Given the description of an element on the screen output the (x, y) to click on. 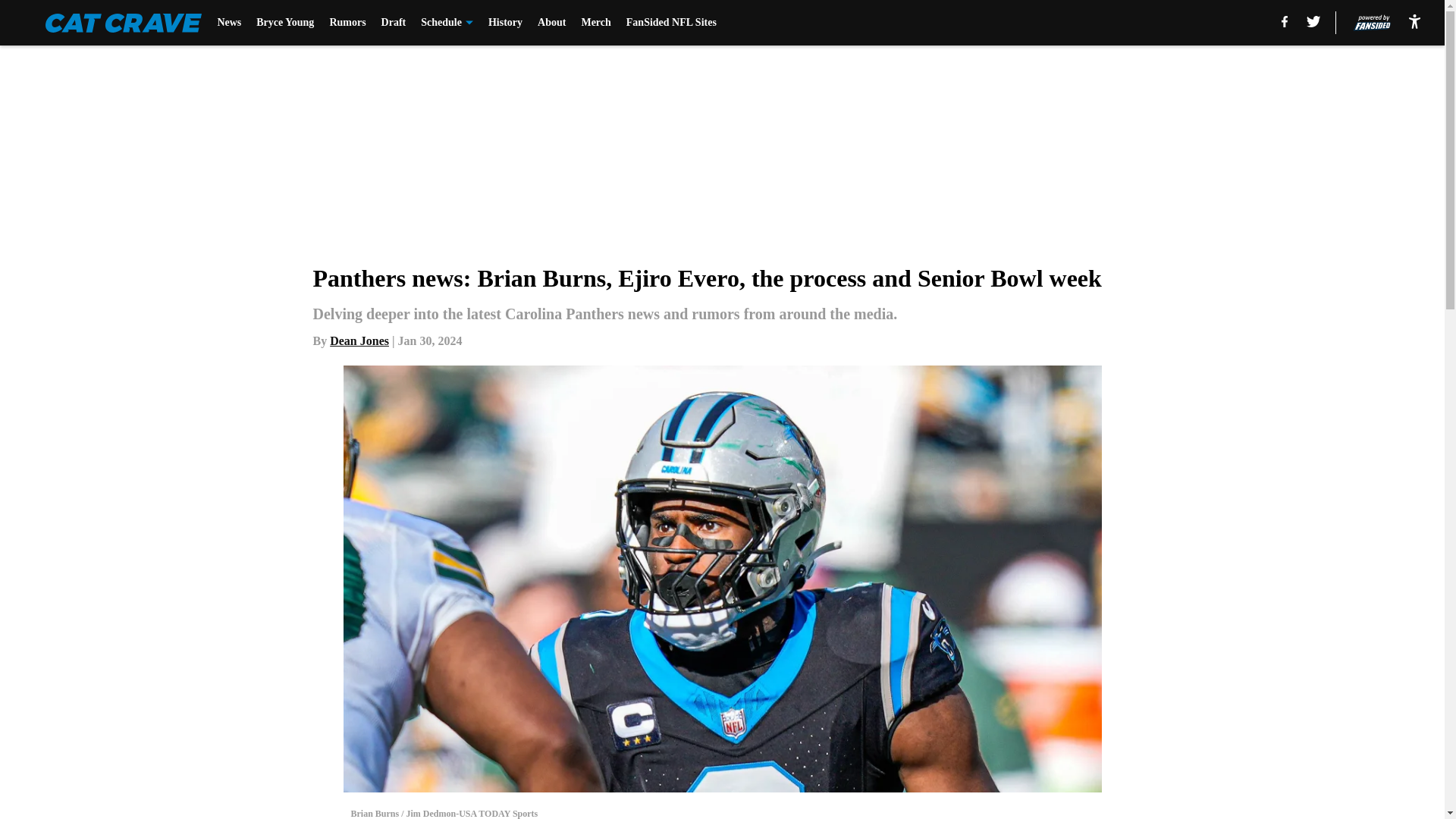
News (228, 22)
About (551, 22)
Rumors (347, 22)
History (504, 22)
Dean Jones (359, 340)
FanSided NFL Sites (671, 22)
Bryce Young (285, 22)
Draft (393, 22)
Merch (595, 22)
